Given the description of an element on the screen output the (x, y) to click on. 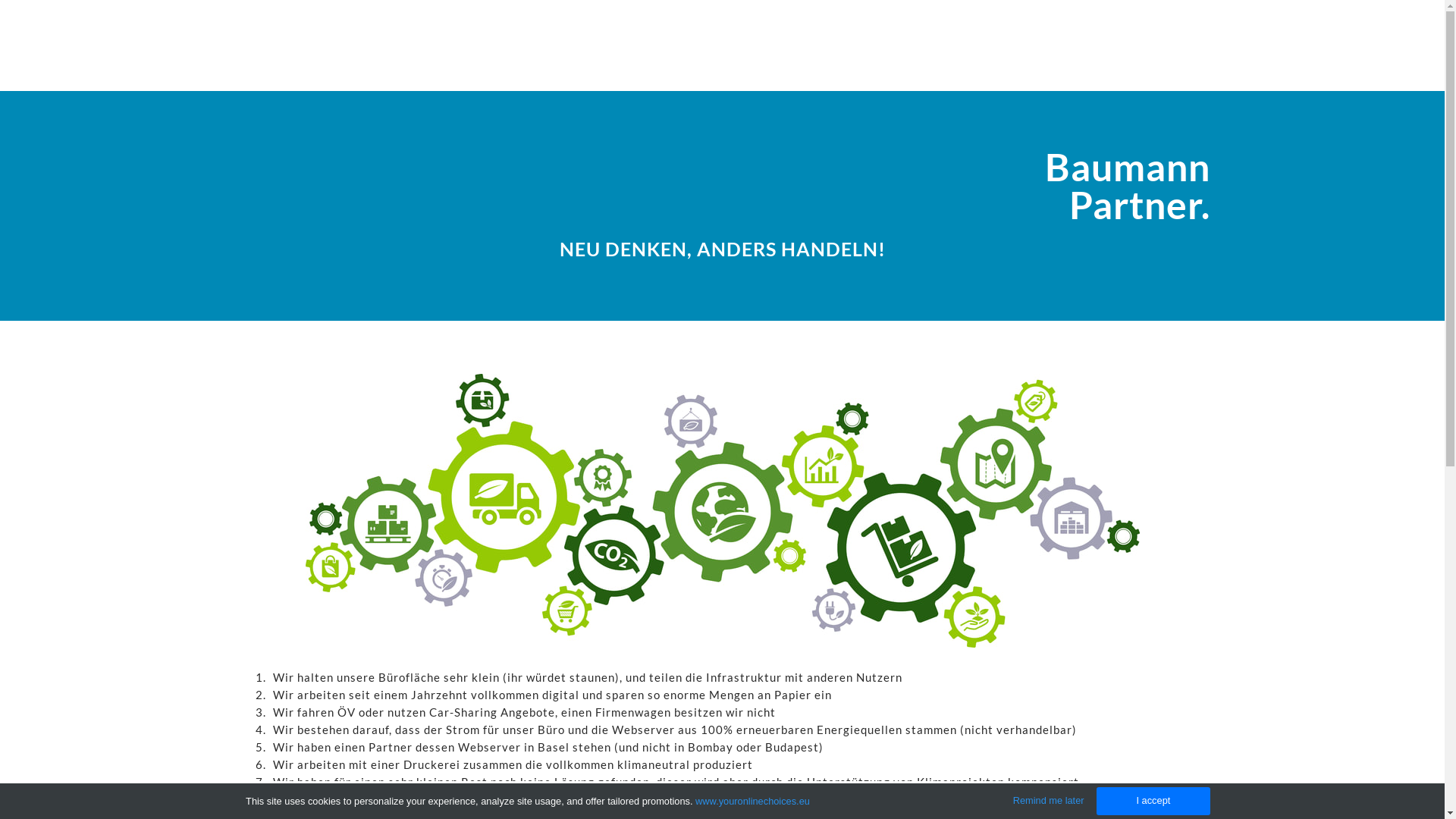
I accept Element type: text (1153, 801)
Remind me later Element type: text (1048, 800)
www.youronlinechoices.eu Element type: text (752, 800)
